Given the description of an element on the screen output the (x, y) to click on. 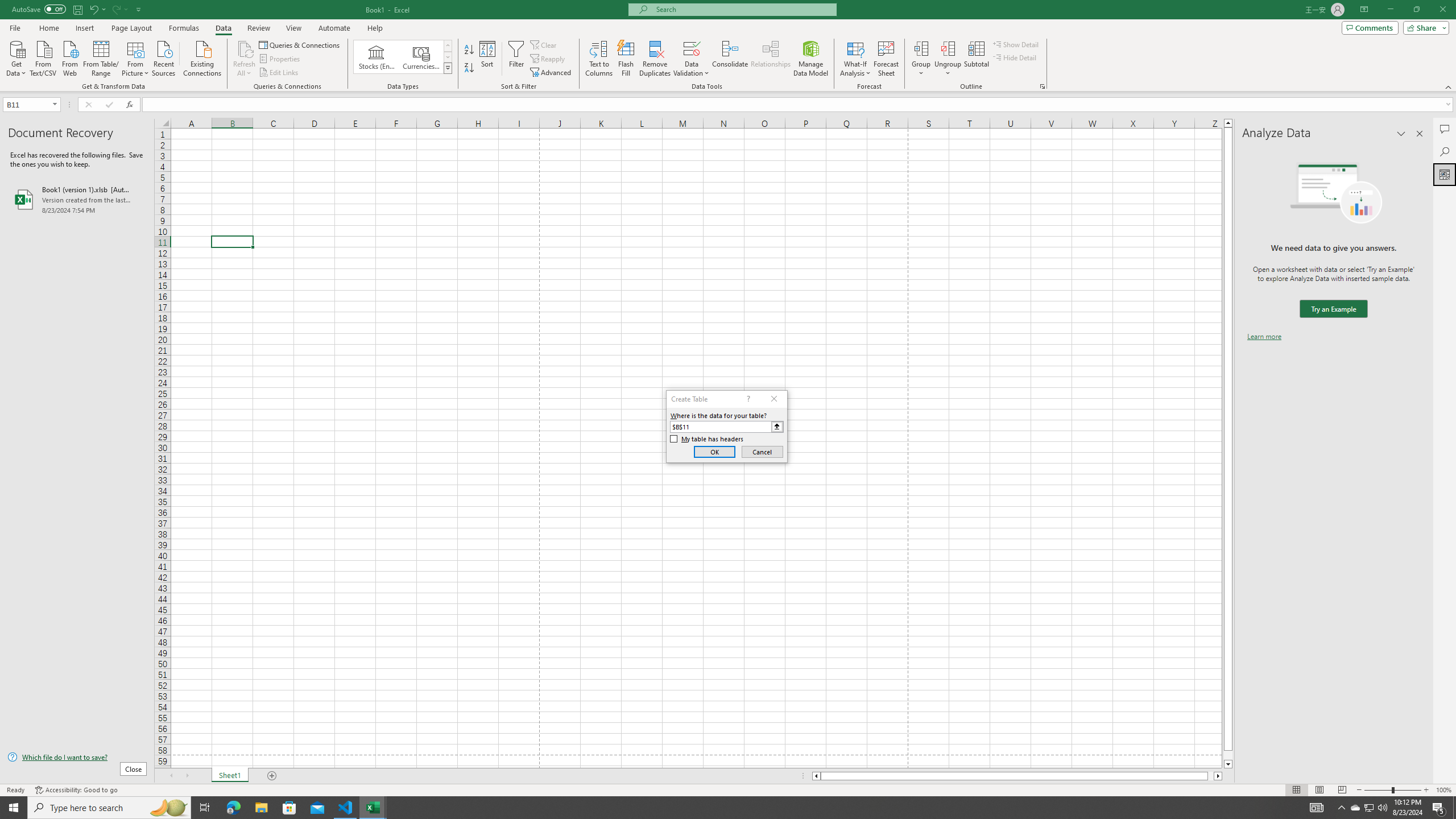
Sheet1 (229, 775)
Formula Bar (799, 104)
Search (1444, 151)
Recent Sources (163, 57)
Edit Links (279, 72)
Ungroup... (947, 48)
Scroll Right (187, 775)
Close pane (1419, 133)
Scroll Left (171, 775)
More Options (947, 68)
Add Sheet (272, 775)
Line up (1228, 122)
Hide Detail (1014, 56)
Ribbon Display Options (1364, 9)
